Given the description of an element on the screen output the (x, y) to click on. 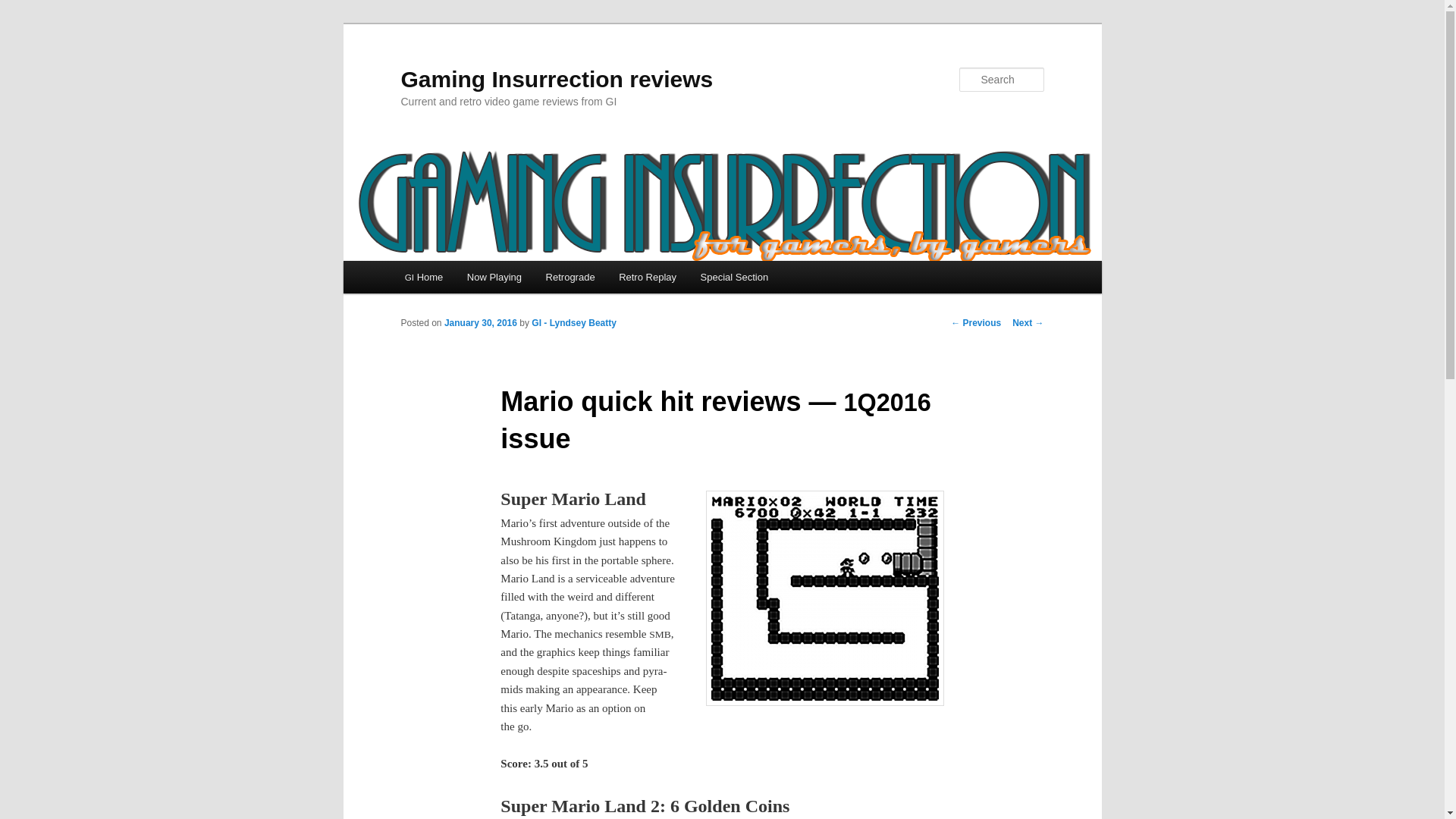
Gaming Insurrection reviews (556, 78)
GI Home (423, 277)
January 30, 2016 (480, 322)
3:51 PM (480, 322)
Retro Replay (647, 277)
GI - Lyndsey Beatty (573, 322)
Special Section (734, 277)
Search (24, 8)
Retrograde (570, 277)
View all posts by GI - Lyndsey Beatty (573, 322)
Now Playing (494, 277)
